Given the description of an element on the screen output the (x, y) to click on. 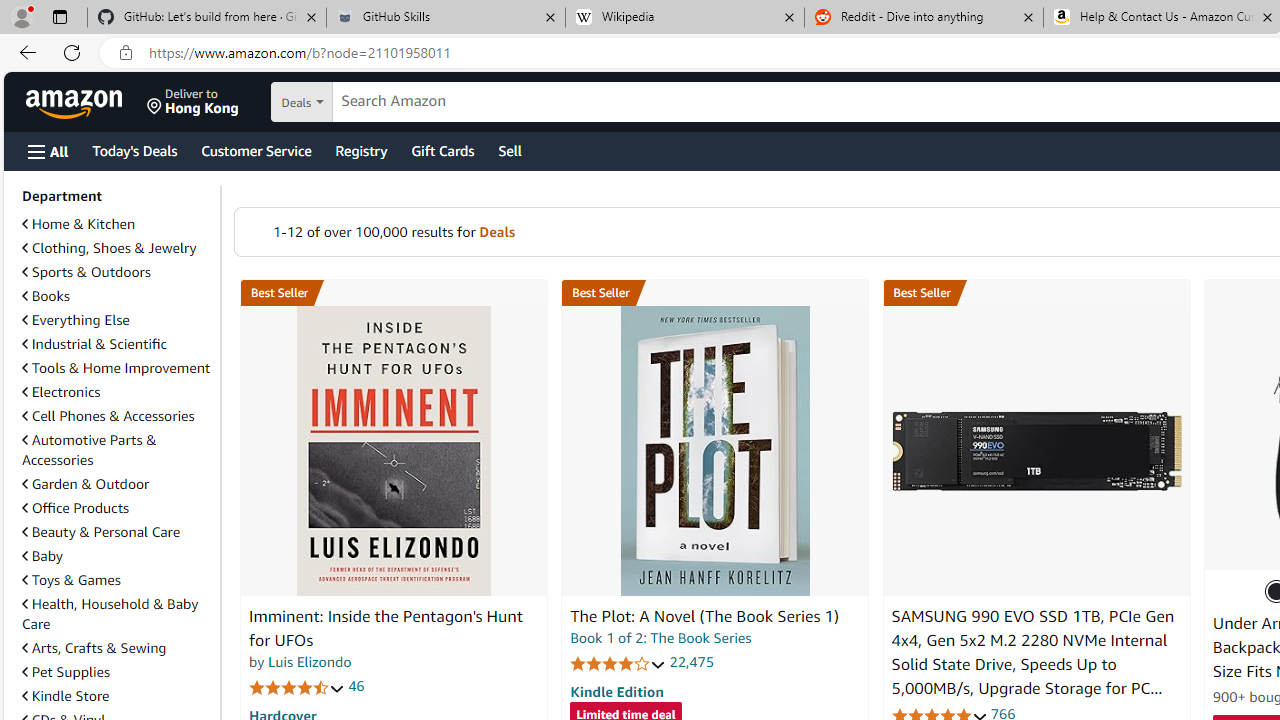
Beauty & Personal Care (117, 532)
Kindle Edition (616, 691)
Gift Cards (442, 150)
Amazon (76, 101)
Electronics (61, 392)
Industrial & Scientific (117, 344)
Automotive Parts & Accessories (117, 449)
Registry (360, 150)
Today's Deals (134, 150)
Sell (509, 150)
Wikipedia (684, 17)
Office Products (75, 507)
Arts, Crafts & Sewing (117, 647)
The Plot: A Novel (The Book Series 1) (714, 451)
